Given the description of an element on the screen output the (x, y) to click on. 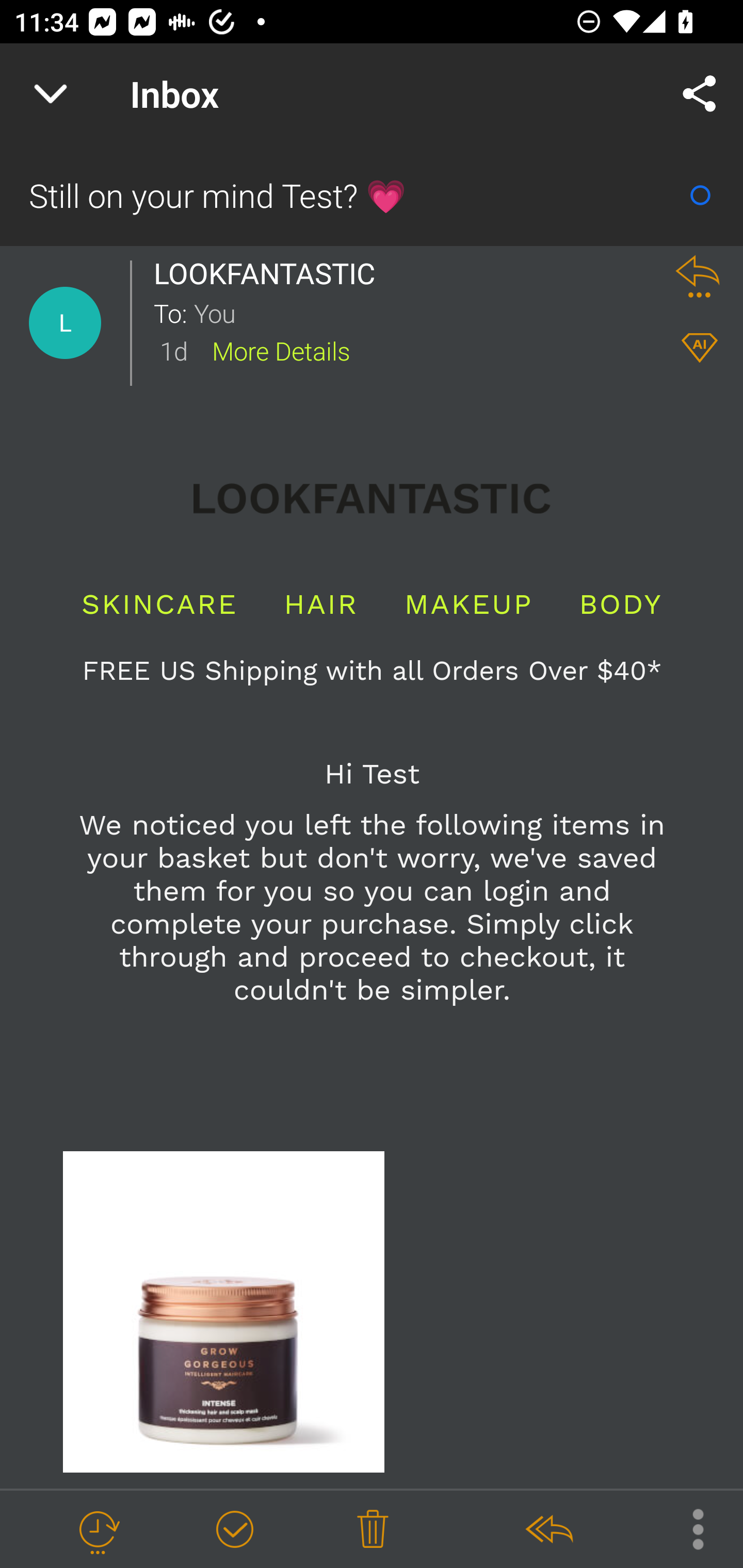
Navigate up (50, 93)
Share (699, 93)
Mark as Read (699, 194)
LOOKFANTASTIC (269, 273)
Contact Details (64, 322)
More Details (280, 349)
  SKINCARE   (159, 604)
  HAIR   (321, 604)
  MAKEUP   (468, 604)
  BODY   (620, 604)
Snooze (97, 1529)
Mark as Done (234, 1529)
Delete (372, 1529)
Reply All (548, 1529)
